Given the description of an element on the screen output the (x, y) to click on. 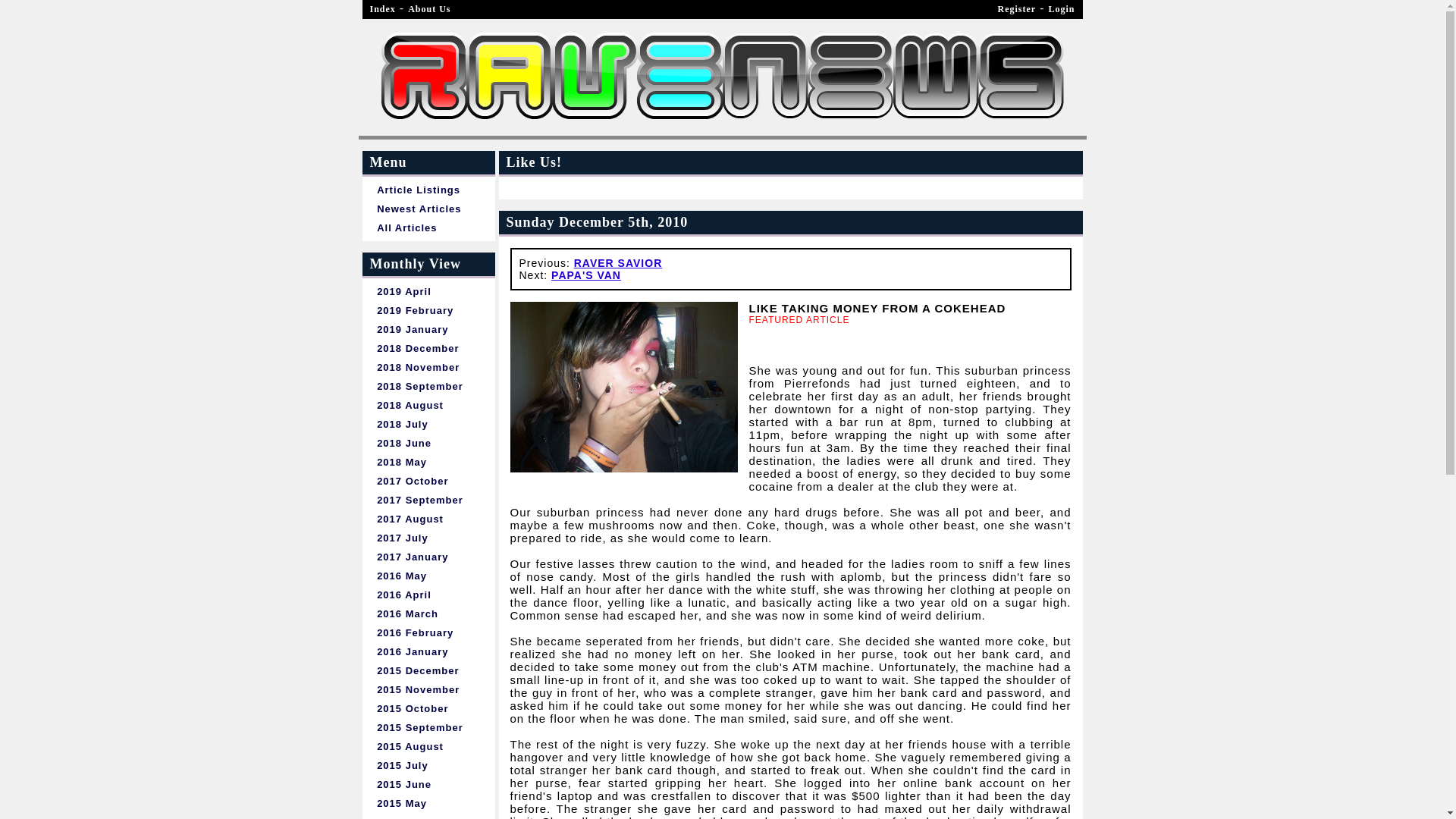
About Us (428, 9)
PAPA'S VAN (586, 275)
2018 December (428, 348)
2019 April (428, 291)
2016 April (428, 594)
Index (382, 9)
All Articles (428, 227)
2016 May (428, 575)
2017 October (428, 480)
RAVER SAVIOR (617, 263)
2018 September (428, 385)
Login (1061, 9)
2019 January (428, 329)
Newest Articles (428, 208)
2018 November (428, 366)
